Given the description of an element on the screen output the (x, y) to click on. 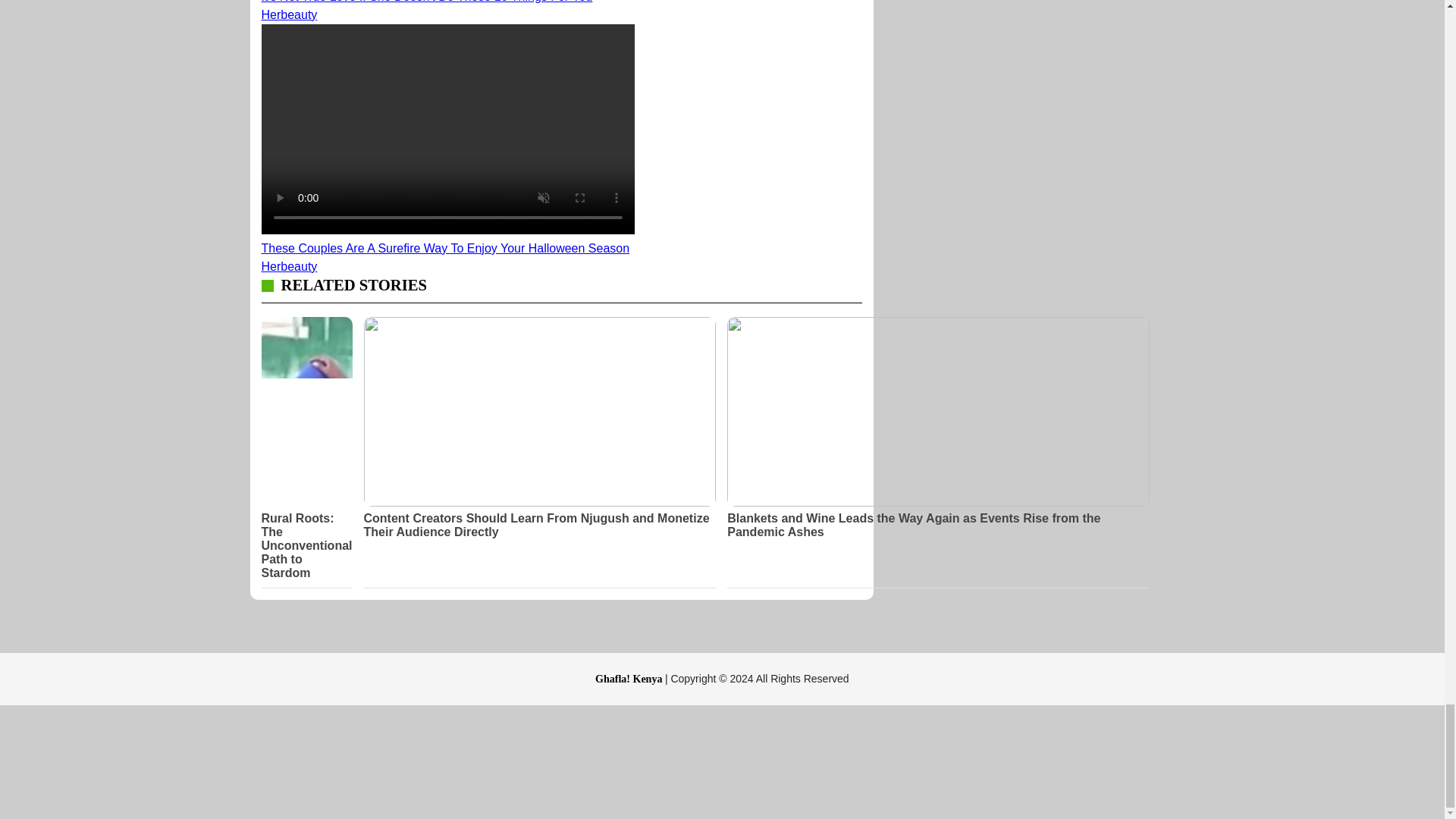
Ghafla! Kenya (630, 678)
Rural Roots: The Unconventional Path to Stardom (306, 545)
